Given the description of an element on the screen output the (x, y) to click on. 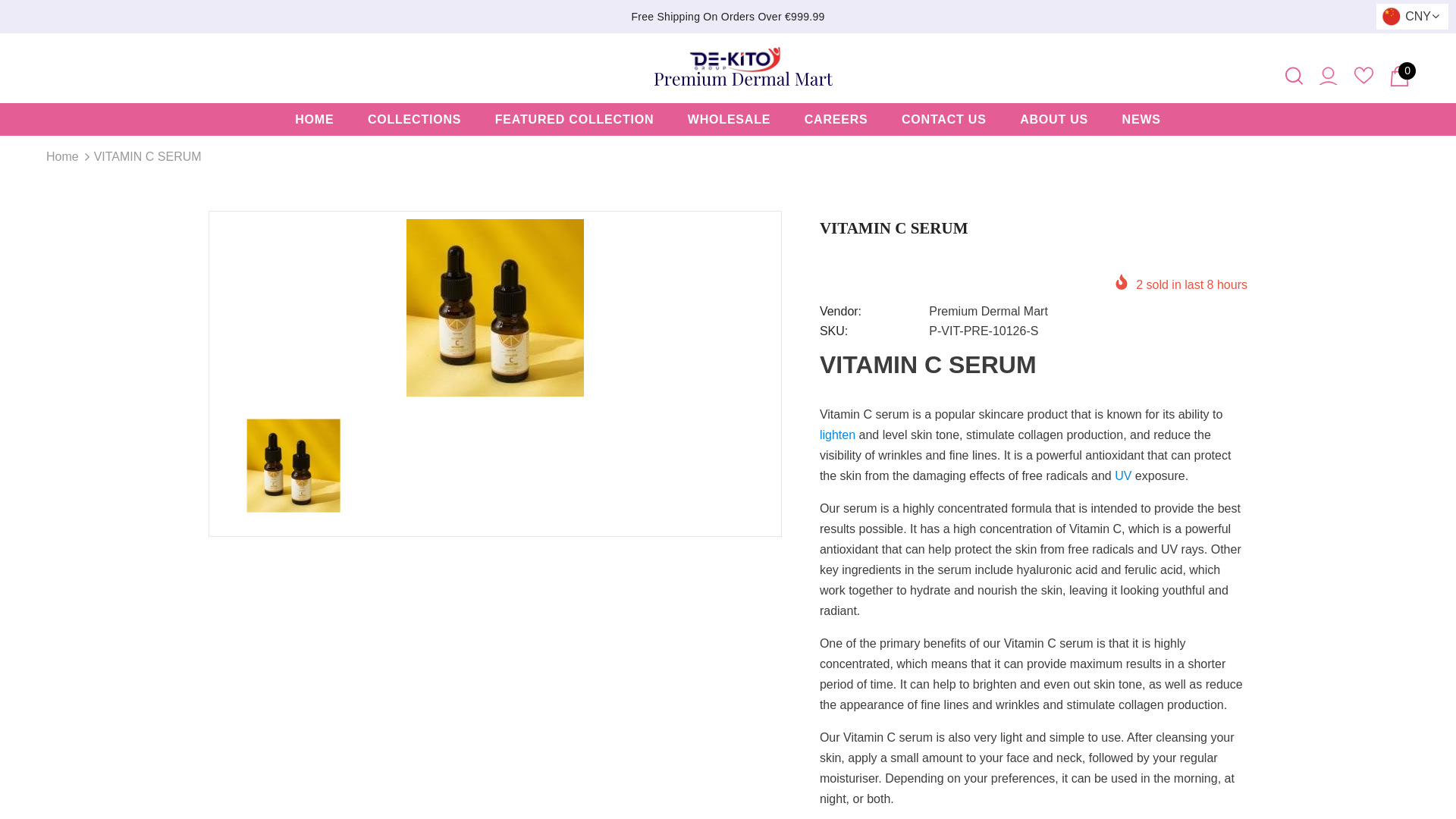
ABOUT US (1053, 119)
Home (62, 156)
Search Icon (1294, 75)
WHOLESALE (728, 119)
HOME (314, 119)
0 (1399, 76)
CONTACT US (944, 119)
COLLECTIONS (414, 119)
NEWS (1141, 119)
CAREERS (836, 119)
